Given the description of an element on the screen output the (x, y) to click on. 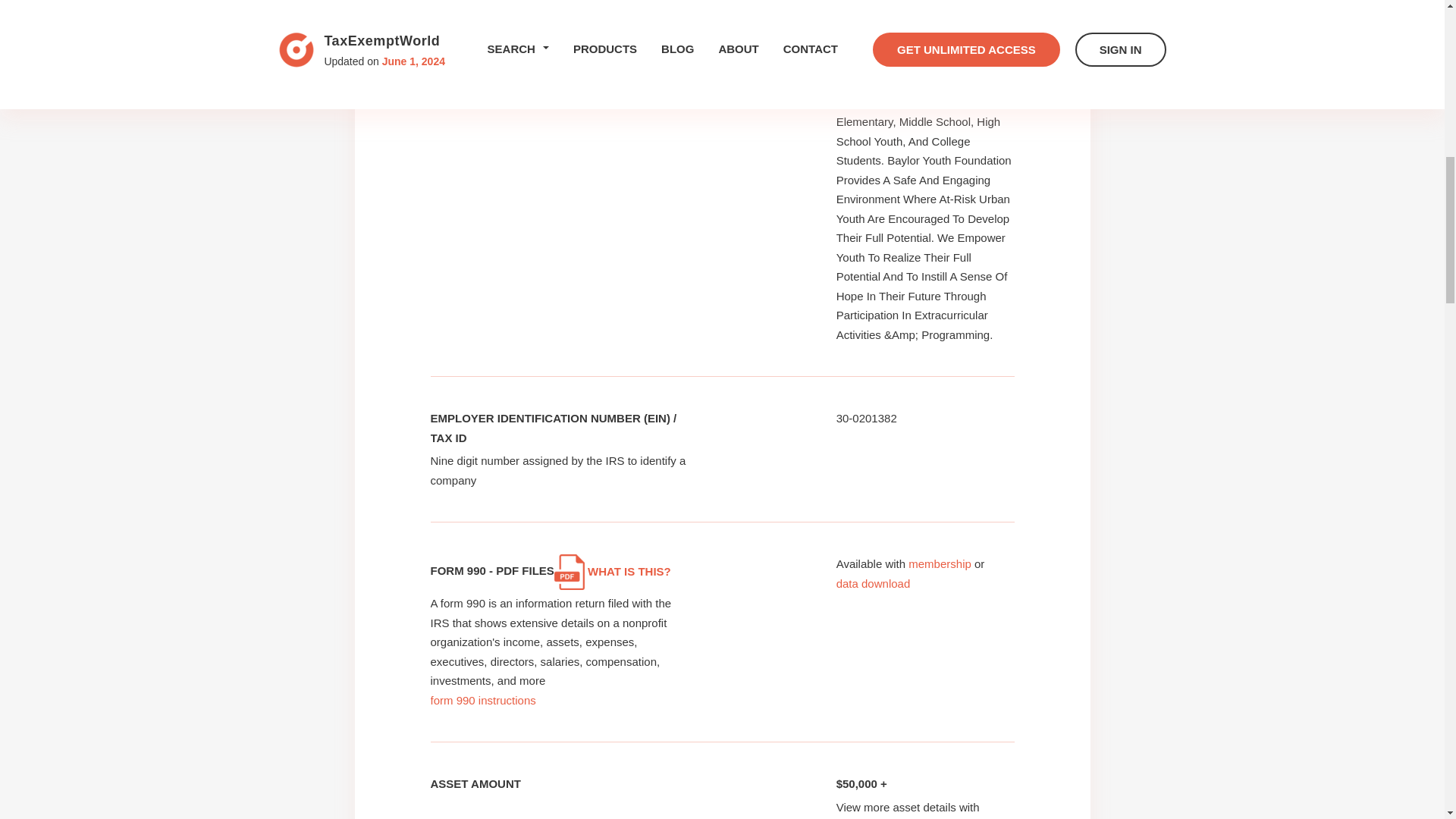
form 990 instructions (482, 699)
data download (873, 583)
membership (939, 563)
 WHAT IS THIS? (612, 571)
